Given the description of an element on the screen output the (x, y) to click on. 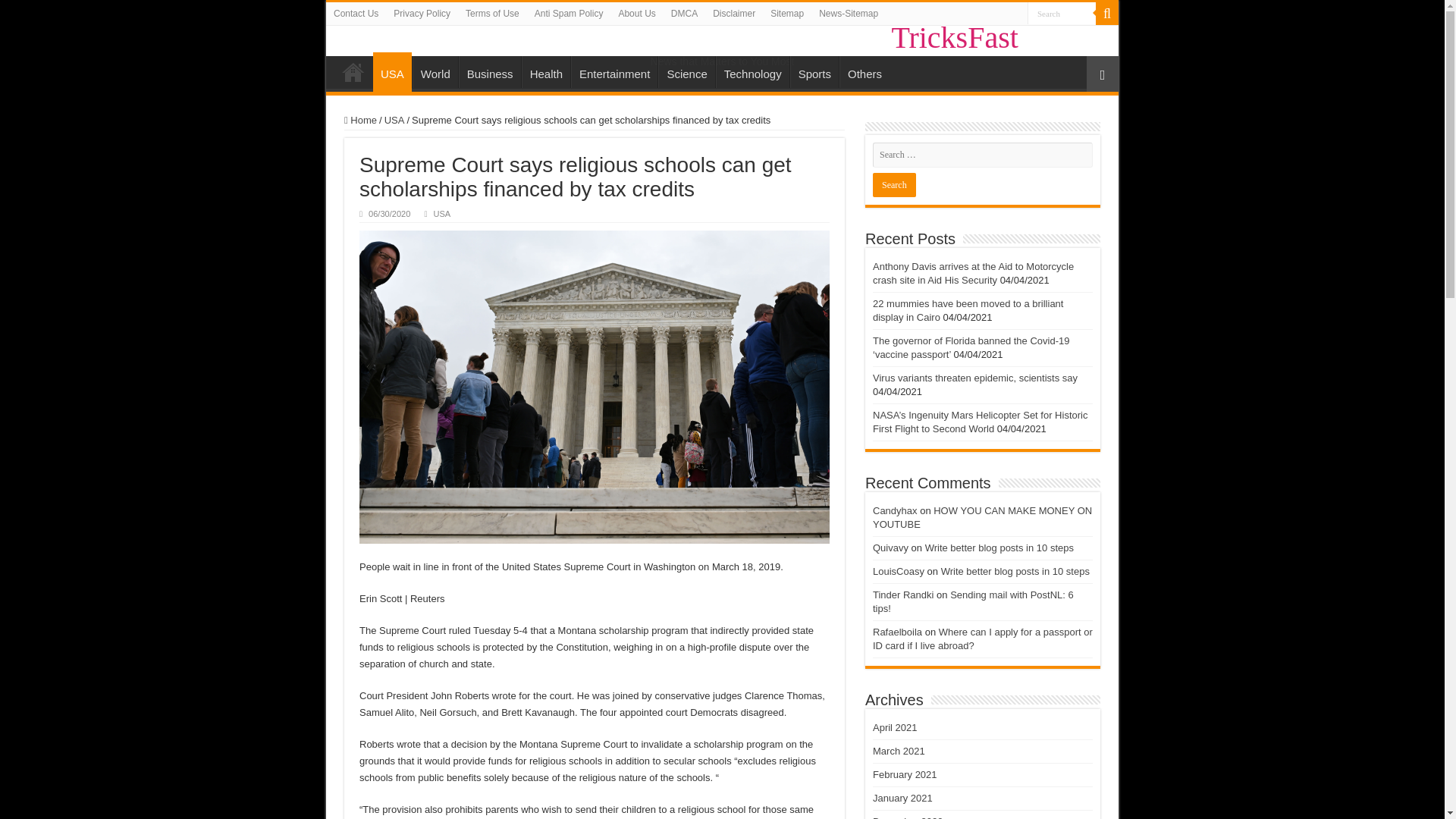
Contact Us (355, 13)
Sports (814, 71)
About Us (636, 13)
Business (489, 71)
Disclaimer (733, 13)
World (435, 71)
Search (1061, 13)
Entertainment (614, 71)
Home (360, 120)
Home (352, 71)
